Given the description of an element on the screen output the (x, y) to click on. 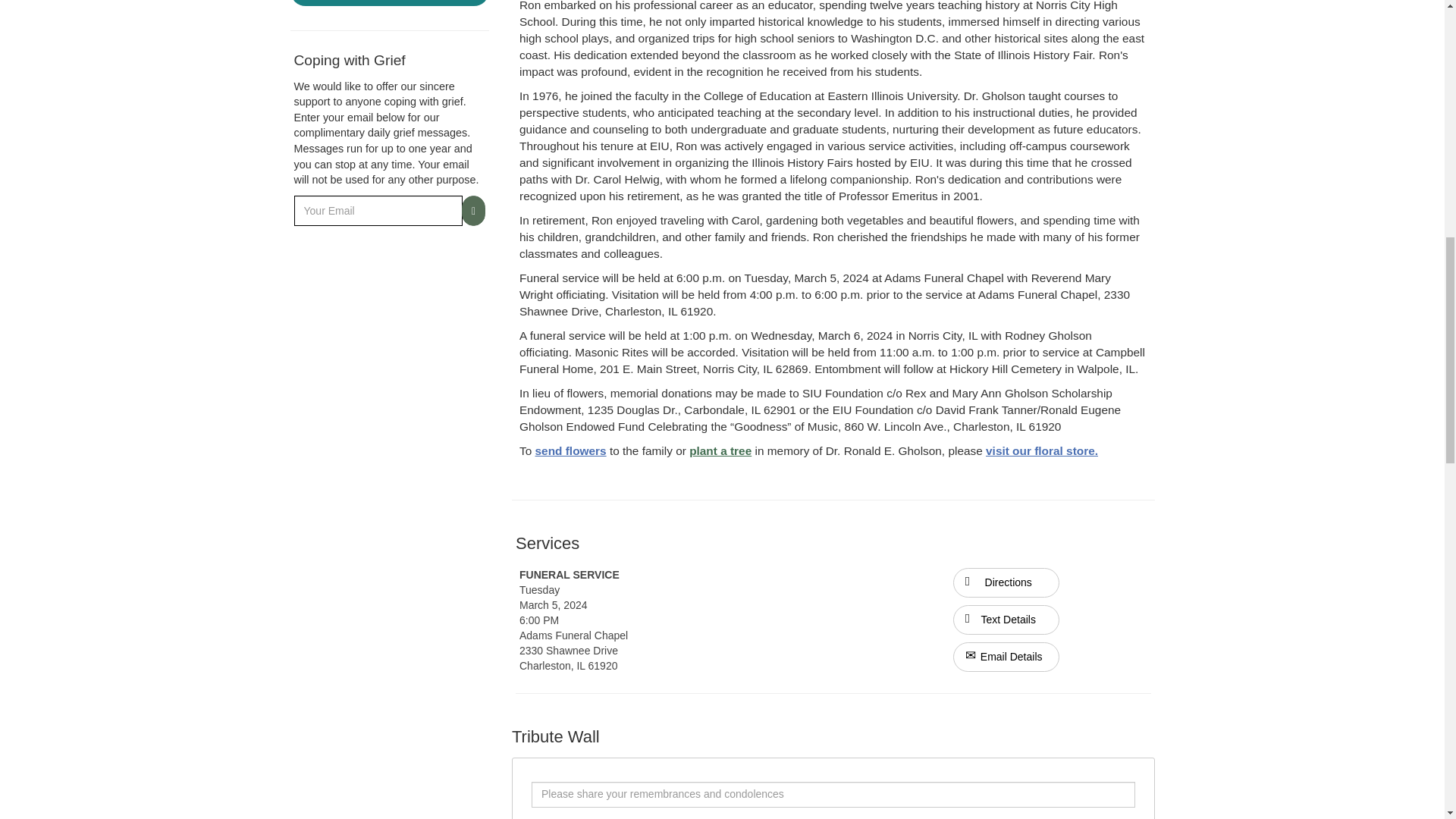
send flowers (571, 450)
visit our floral store. (1041, 450)
Directions (1006, 581)
plant a tree (719, 450)
Text Details (1006, 619)
Share Obituary (389, 2)
Email Details (1006, 656)
Directions (1006, 582)
